Given the description of an element on the screen output the (x, y) to click on. 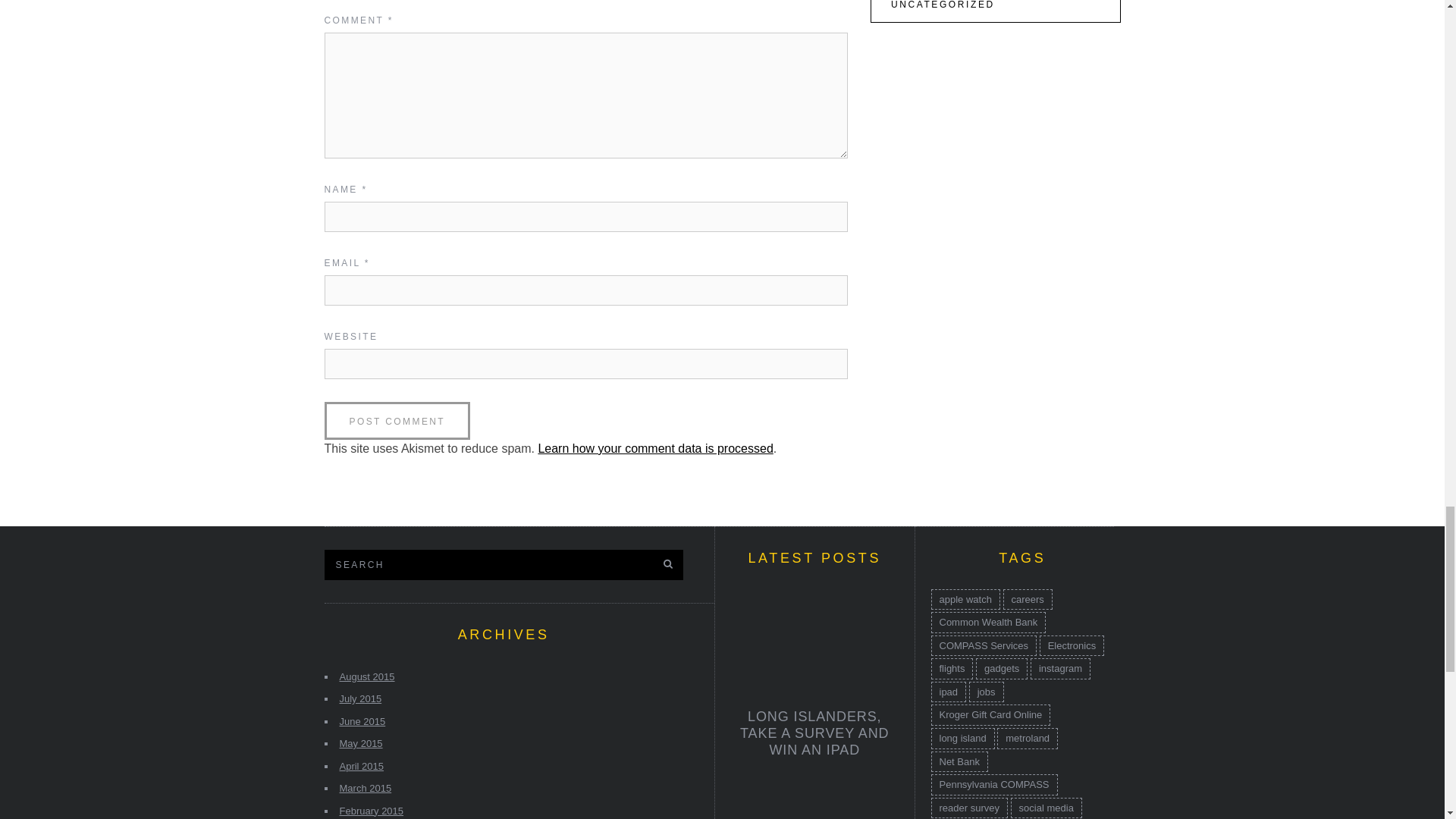
Post Comment (397, 420)
Search (469, 563)
